Given the description of an element on the screen output the (x, y) to click on. 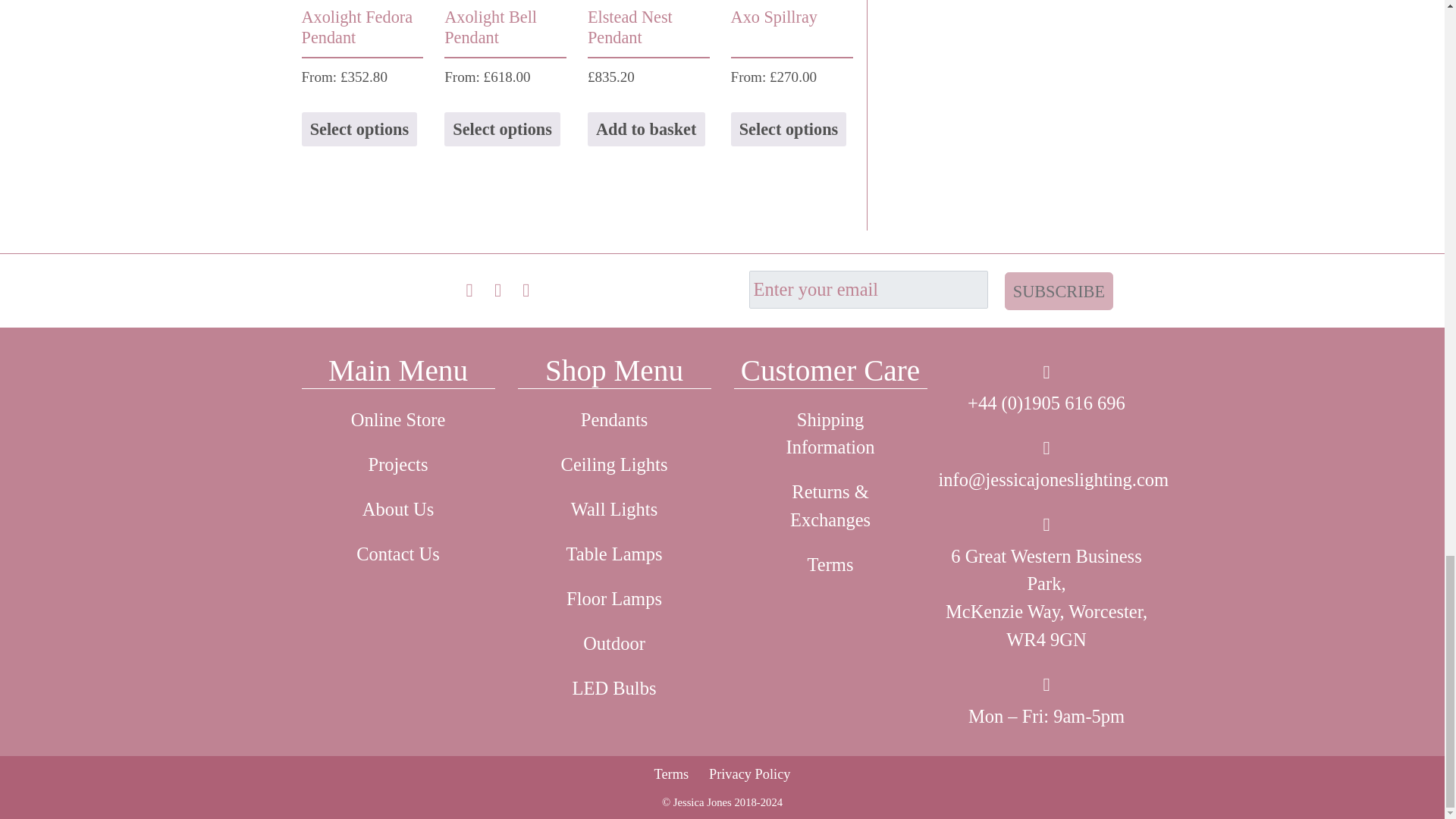
Online Store (398, 420)
Select options (359, 129)
Select options (502, 129)
Contact Us (398, 554)
About Us (398, 509)
Projects (398, 465)
